Given the description of an element on the screen output the (x, y) to click on. 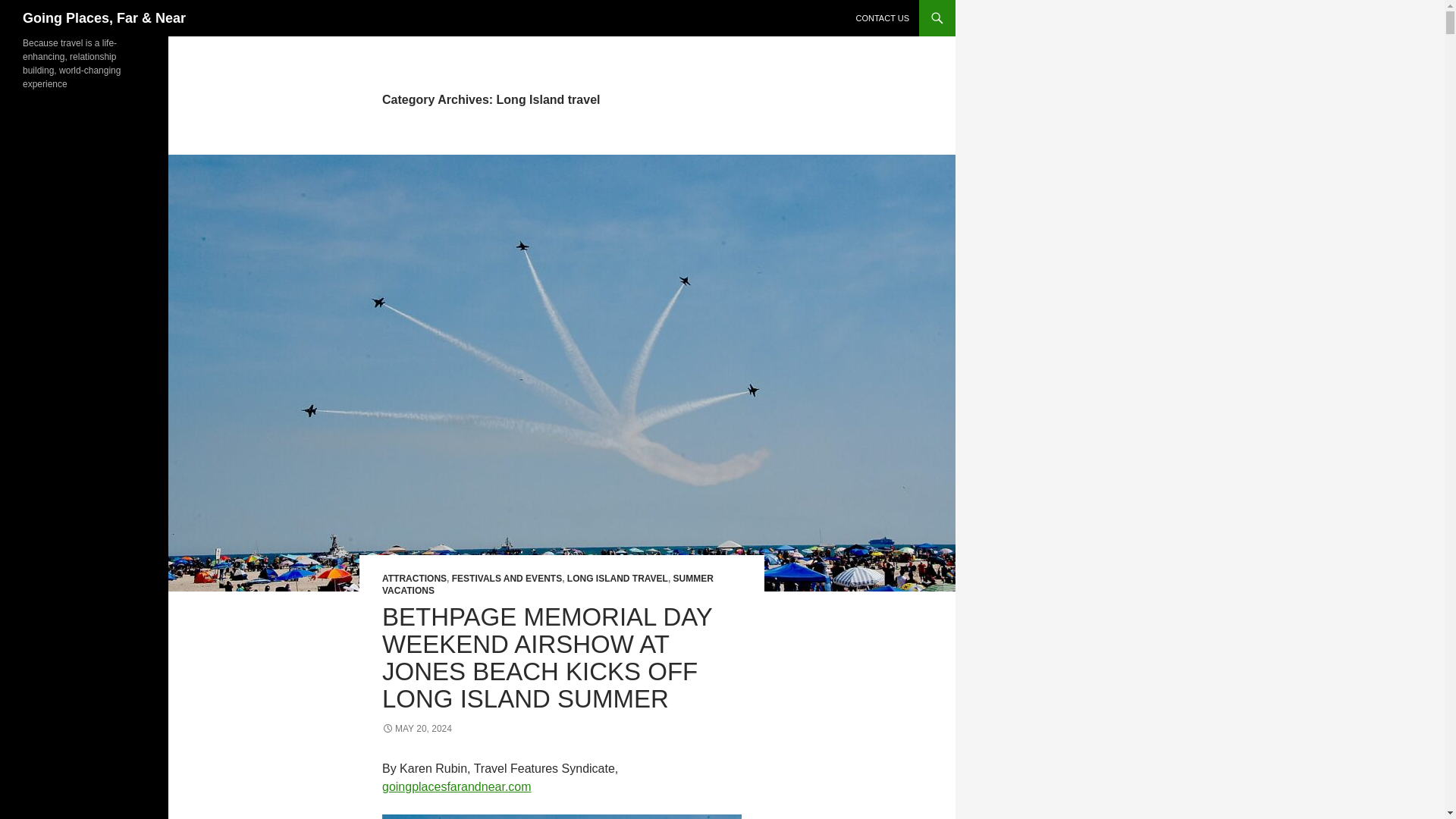
LONG ISLAND TRAVEL (617, 578)
FESTIVALS AND EVENTS (506, 578)
goingplacesfarandnear.com (456, 786)
CONTACT US (881, 18)
ATTRACTIONS (413, 578)
SUMMER VACATIONS (547, 584)
MAY 20, 2024 (416, 728)
